Given the description of an element on the screen output the (x, y) to click on. 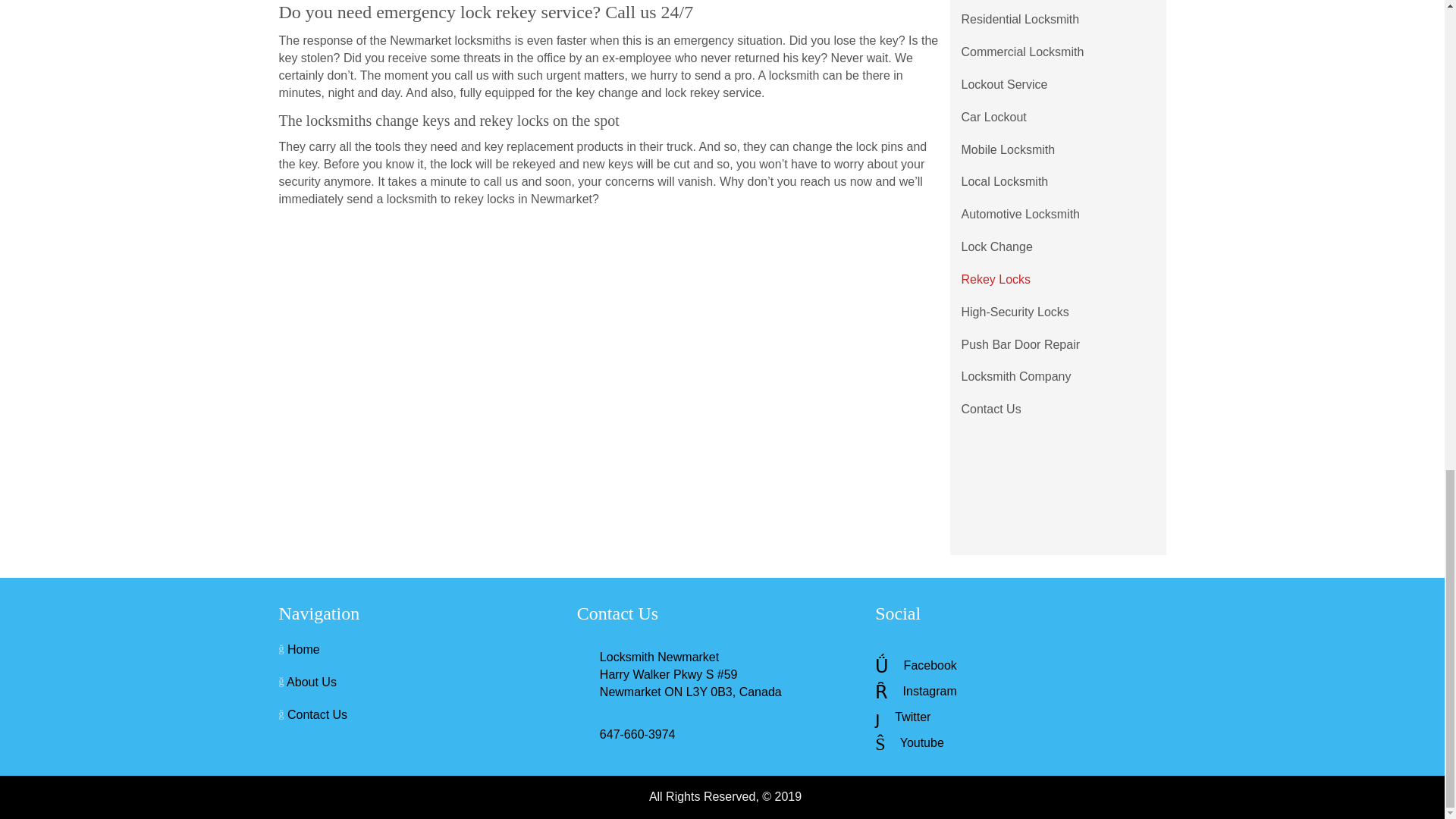
Commercial Locksmith (1021, 52)
Mobile Locksmith (1007, 150)
Lock Change (996, 246)
Automotive Locksmith (1019, 214)
Lockout Service (1003, 84)
24-Hour Locksmith (1011, 2)
Car Lockout (992, 117)
Residential Locksmith (1019, 20)
Local Locksmith (1004, 182)
